Given the description of an element on the screen output the (x, y) to click on. 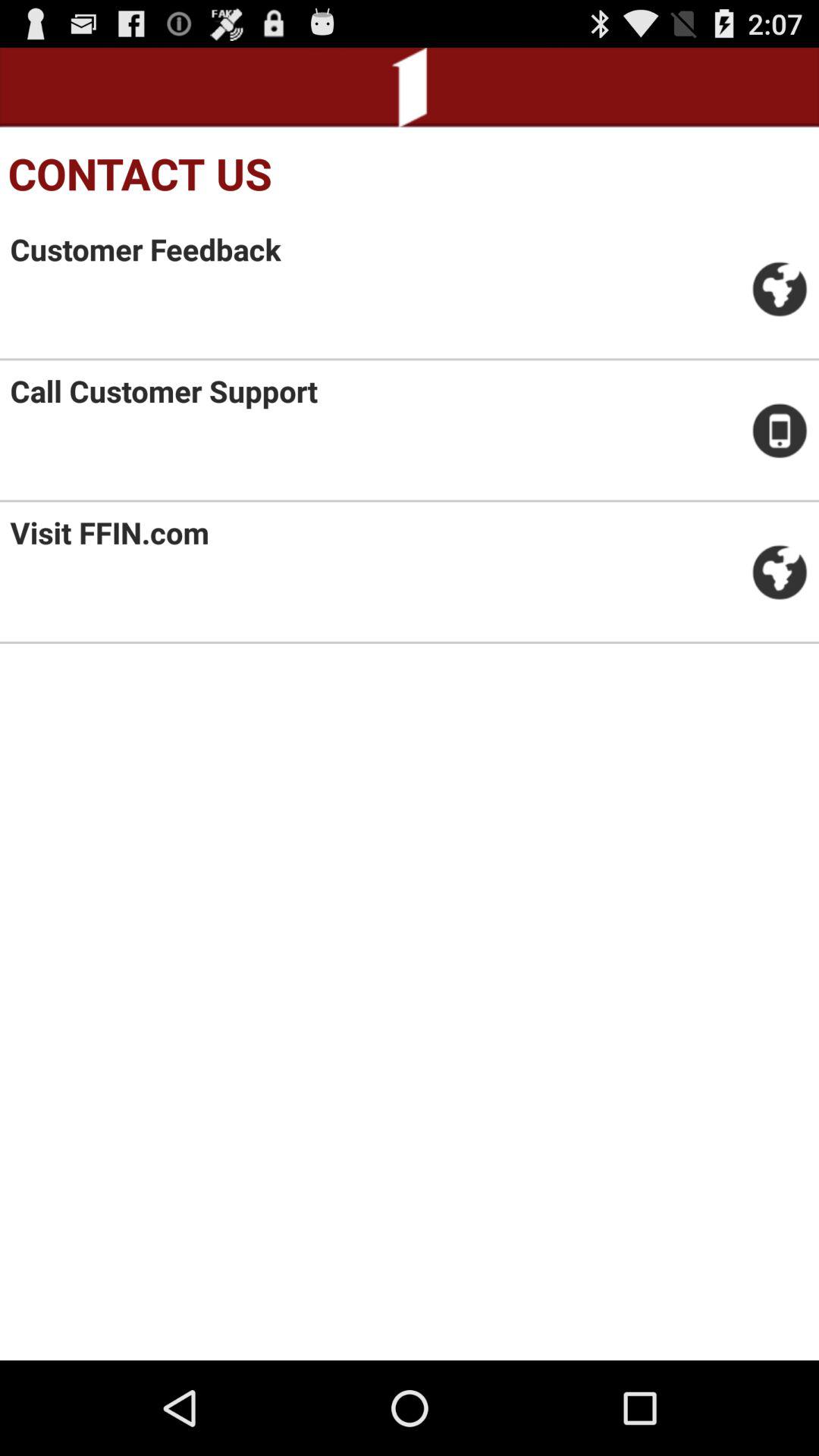
open item above call customer support (145, 249)
